Given the description of an element on the screen output the (x, y) to click on. 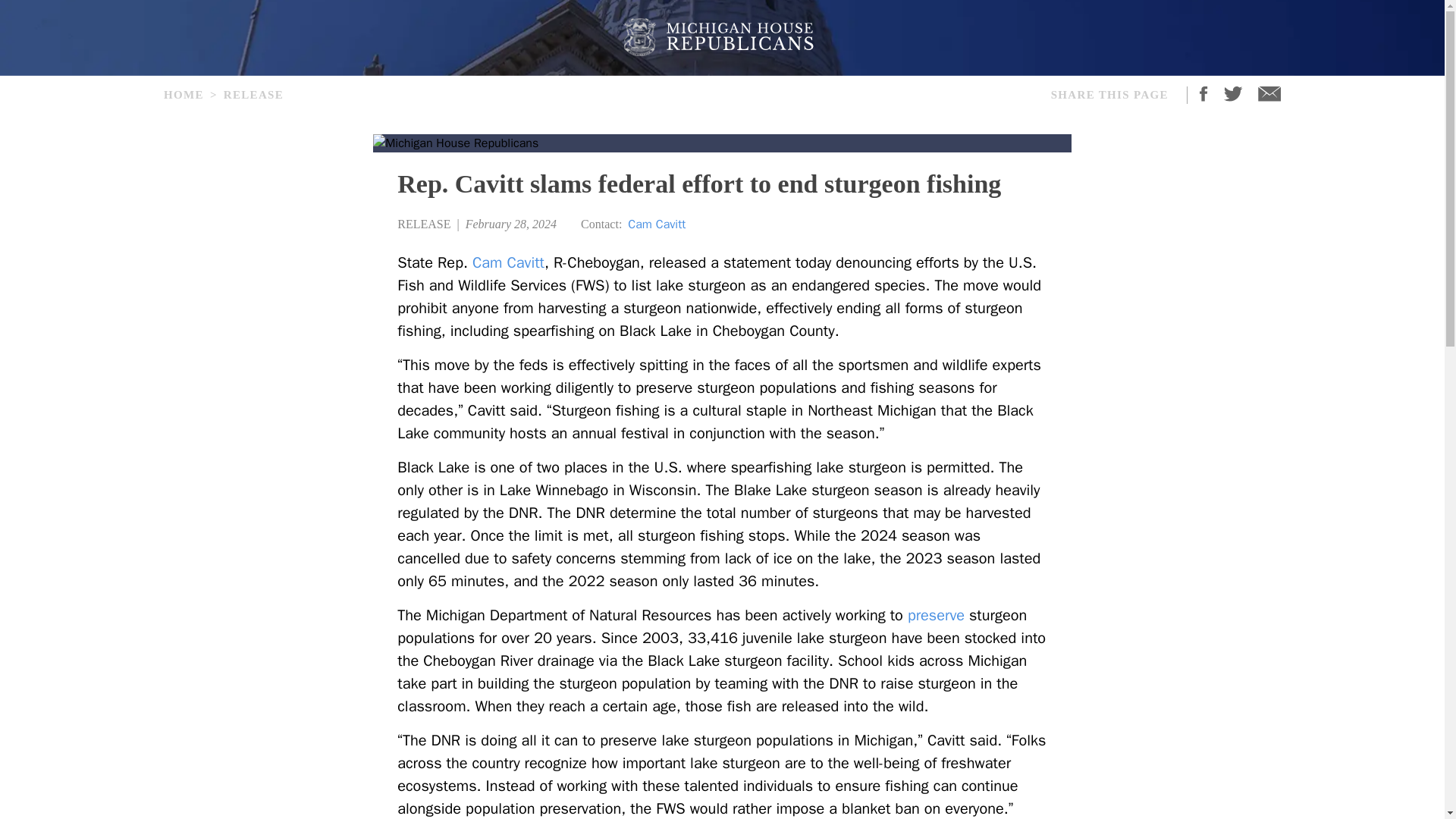
Cam Cavitt (656, 224)
preserve (935, 614)
HOME (183, 94)
Cam Cavitt (507, 262)
